Given the description of an element on the screen output the (x, y) to click on. 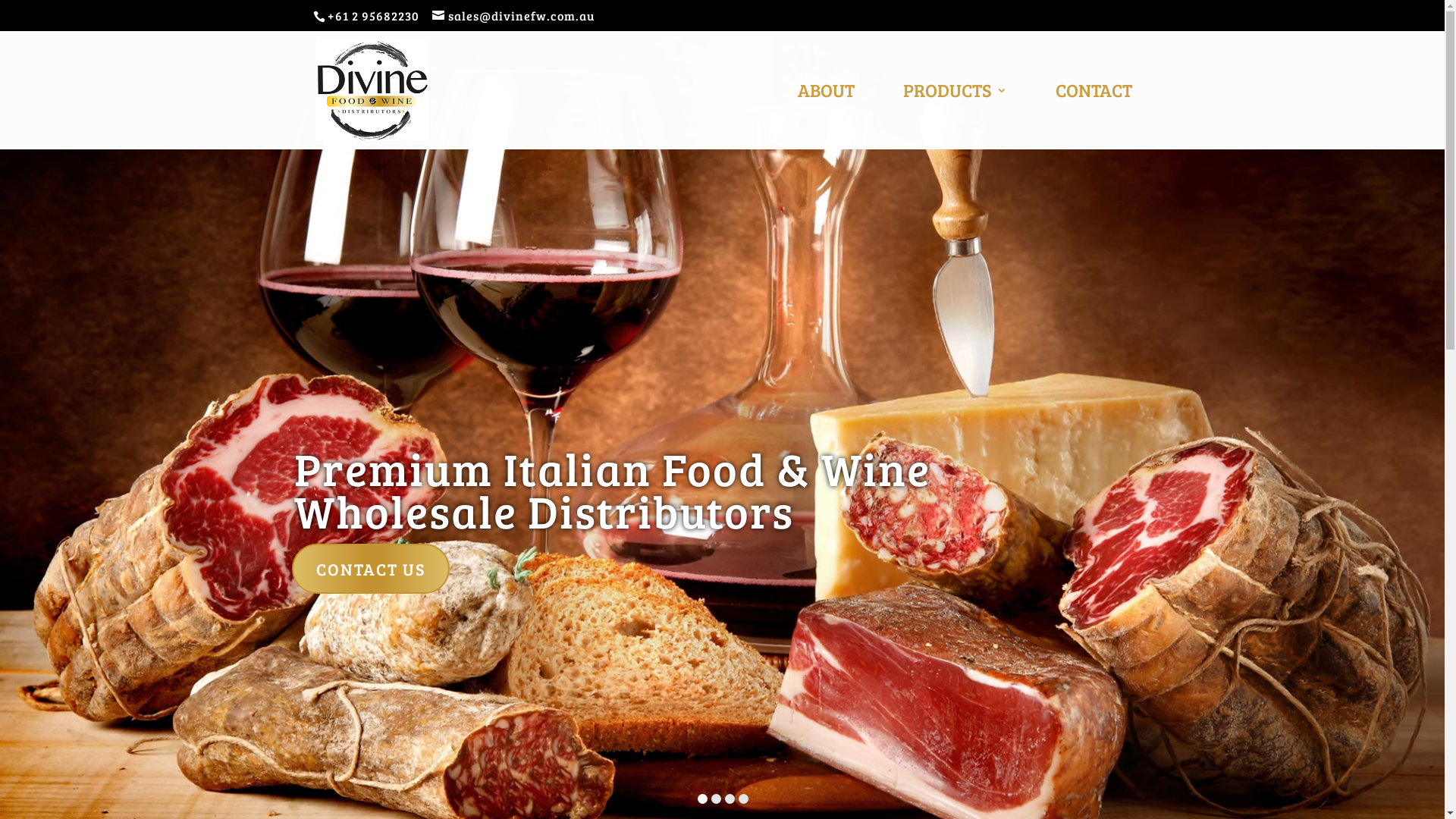
ABOUT Element type: text (825, 116)
sales@divinefw.com.au Element type: text (513, 15)
CONTACT US Element type: text (370, 568)
CONTACT Element type: text (1093, 116)
PRODUCTS Element type: text (954, 116)
